Given the description of an element on the screen output the (x, y) to click on. 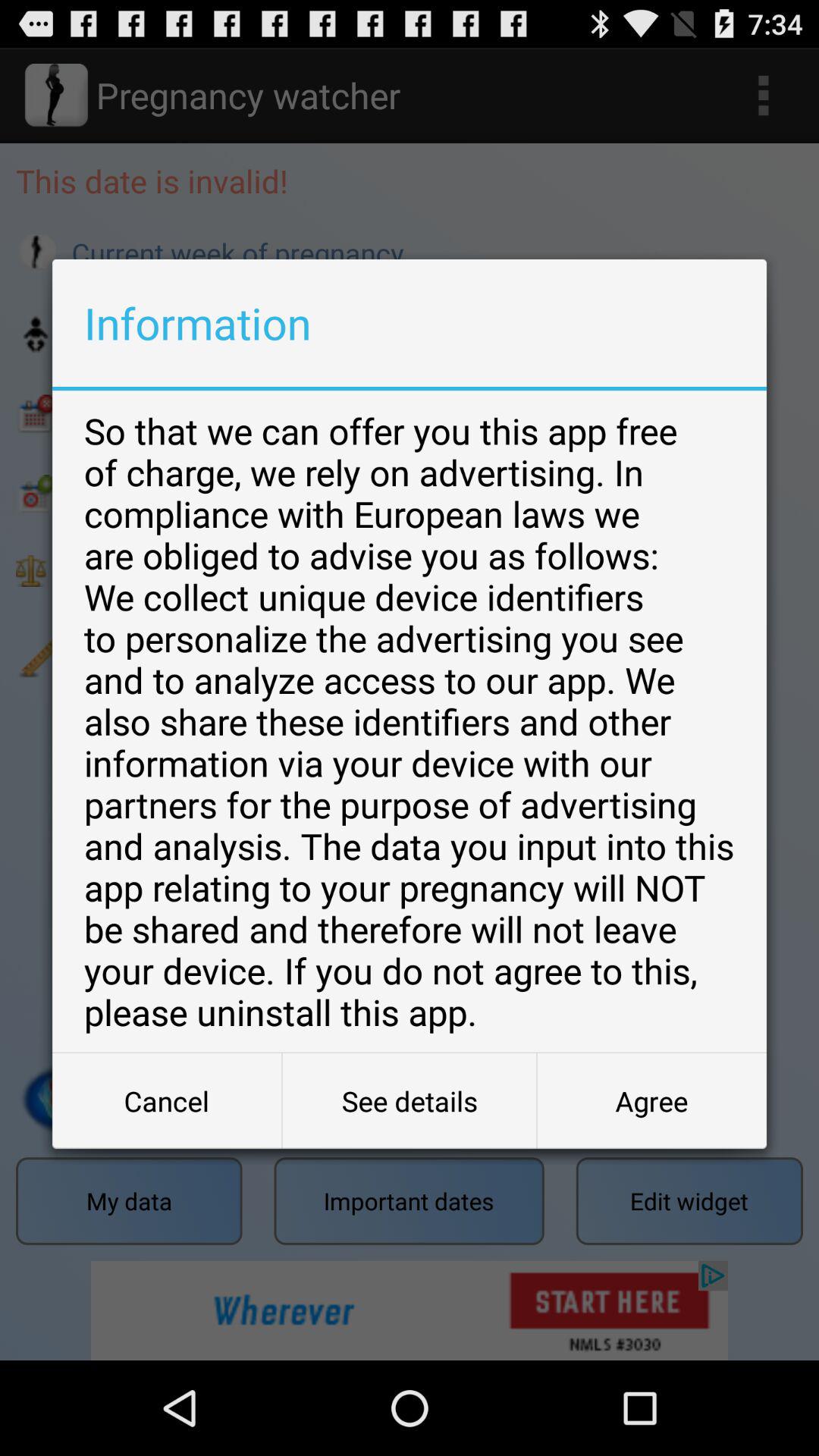
press the item to the right of the cancel item (409, 1100)
